Given the description of an element on the screen output the (x, y) to click on. 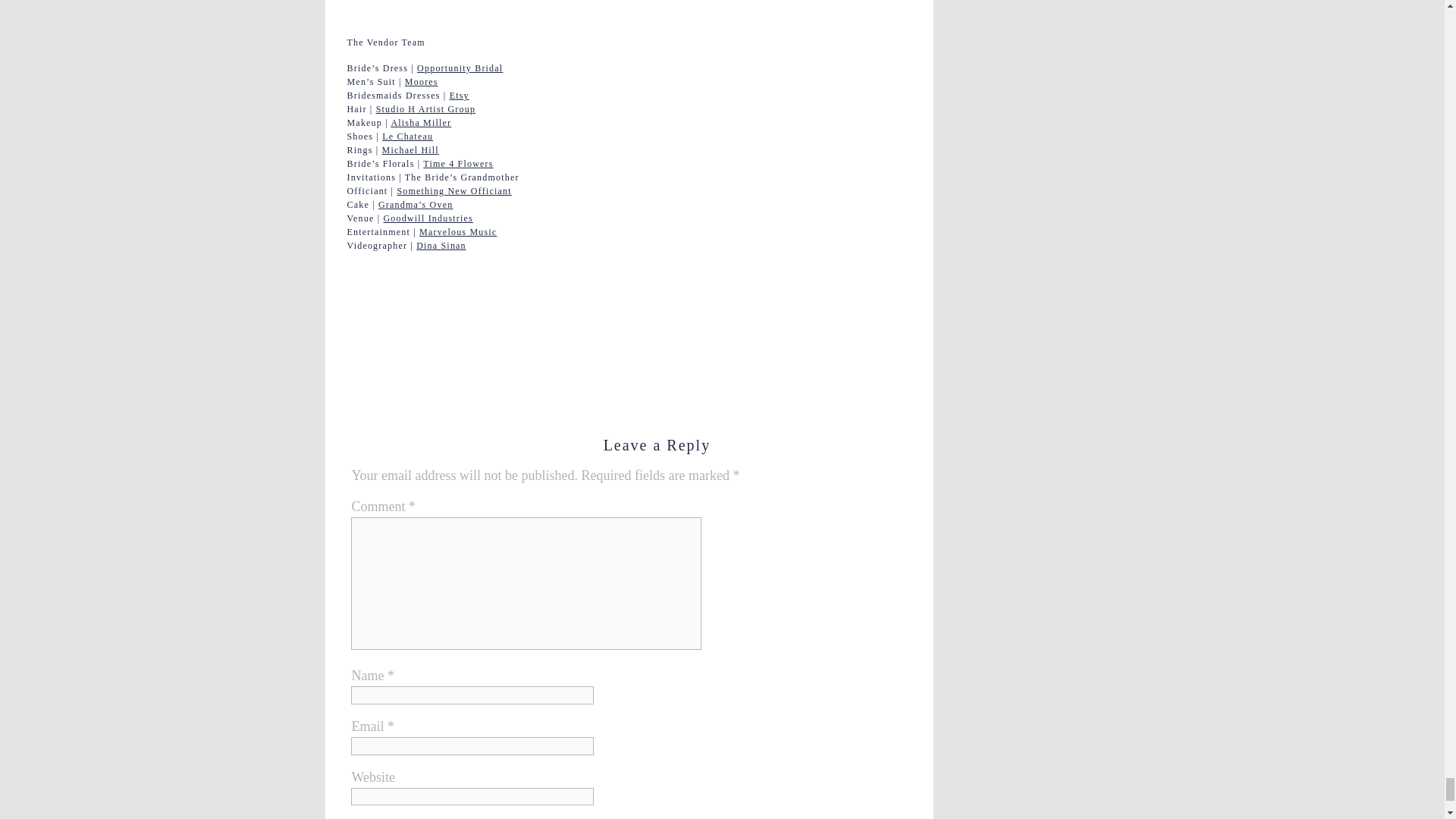
Something New Officiant (453, 190)
Studio H Artist Group (425, 109)
Time 4 Flowers (458, 163)
Michael Hill (410, 149)
Etsy (458, 95)
Marvelous Music (457, 231)
Le Chateau (406, 136)
Moores (421, 81)
Goodwill Industries (428, 217)
Opportunity Bridal (459, 68)
